Given the description of an element on the screen output the (x, y) to click on. 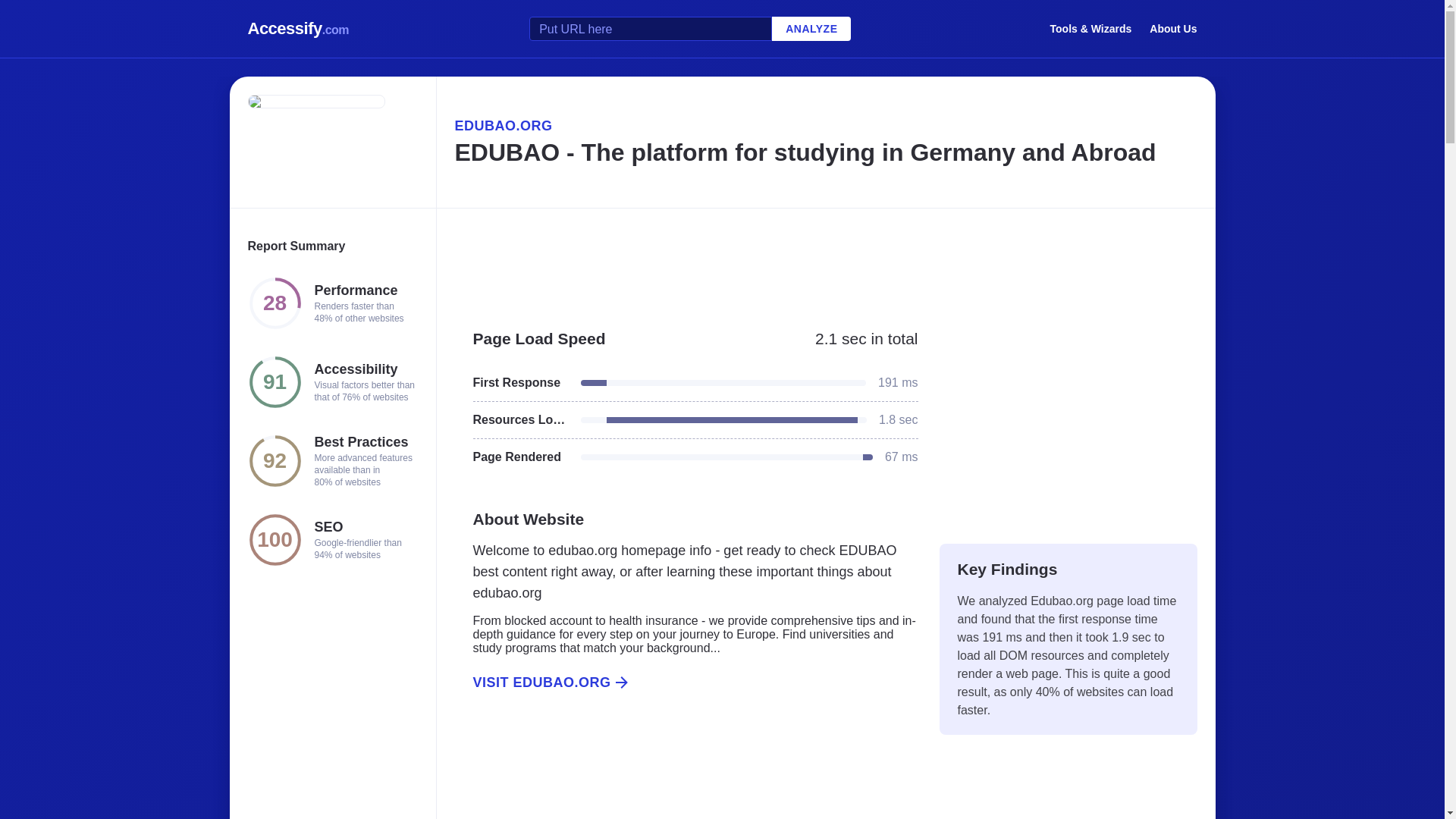
Accessify.com (298, 28)
ANALYZE (810, 28)
About Us (1173, 28)
EDUBAO.ORG (825, 126)
VISIT EDUBAO.ORG (686, 682)
